Given the description of an element on the screen output the (x, y) to click on. 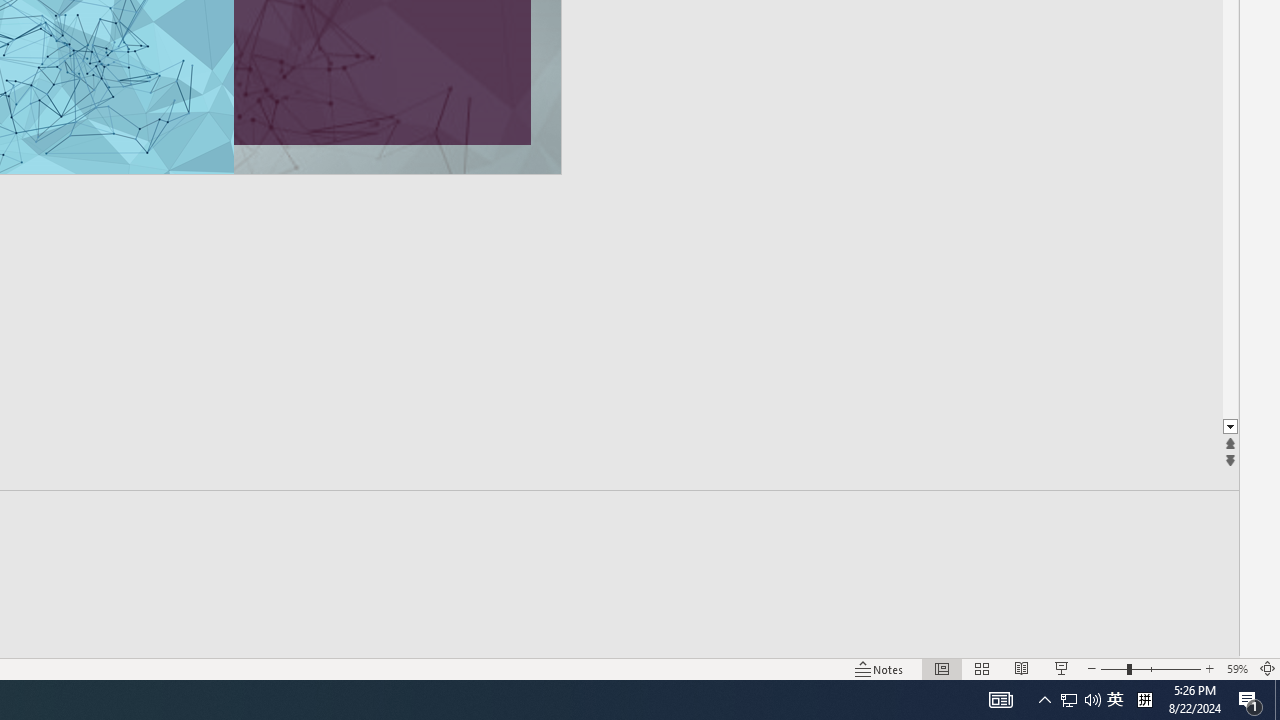
Zoom 59% (1236, 668)
